Given the description of an element on the screen output the (x, y) to click on. 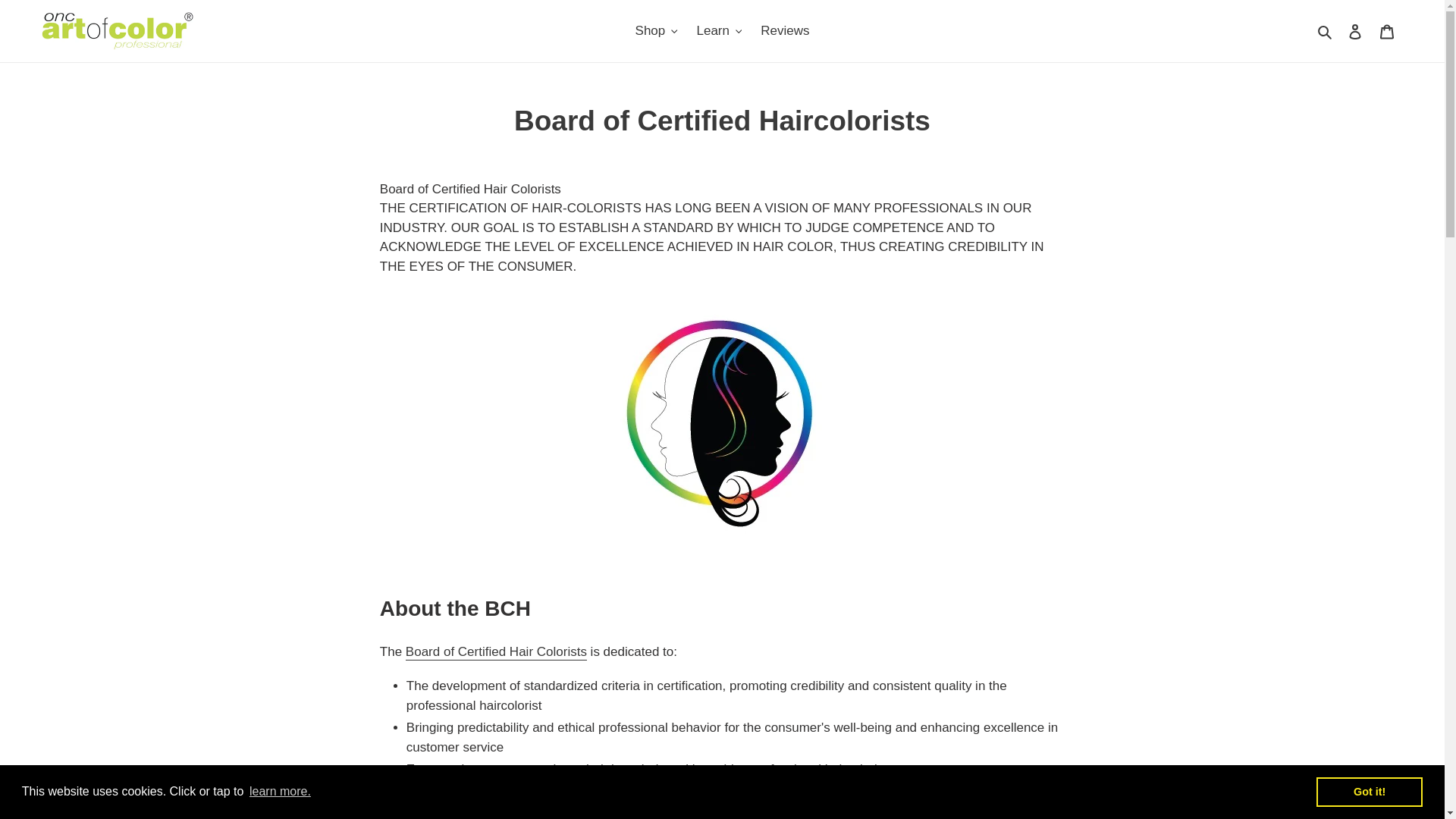
The Board of Certified Haircolorists' website (496, 652)
learn more. (280, 791)
Shop (656, 30)
Reviews (784, 30)
Learn (718, 30)
Cart (1387, 30)
Search (1326, 30)
Got it! (1369, 791)
Log in (1355, 30)
